Given the description of an element on the screen output the (x, y) to click on. 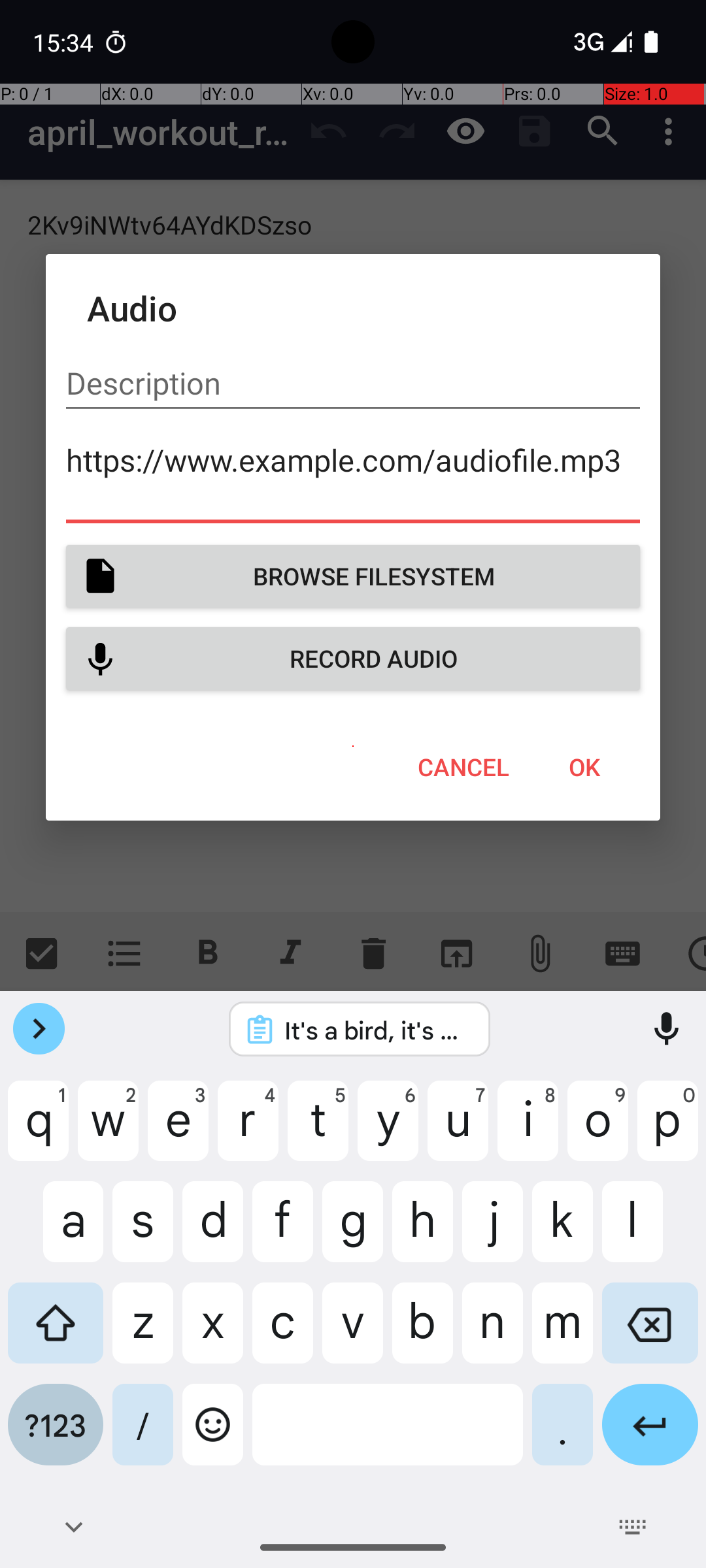
https://www.example.com/audiofile.mp3
 Element type: android.widget.EditText (352, 478)
RECORD AUDIO Element type: android.widget.Button (352, 658)
slash Element type: android.widget.FrameLayout (142, 1434)
